Given the description of an element on the screen output the (x, y) to click on. 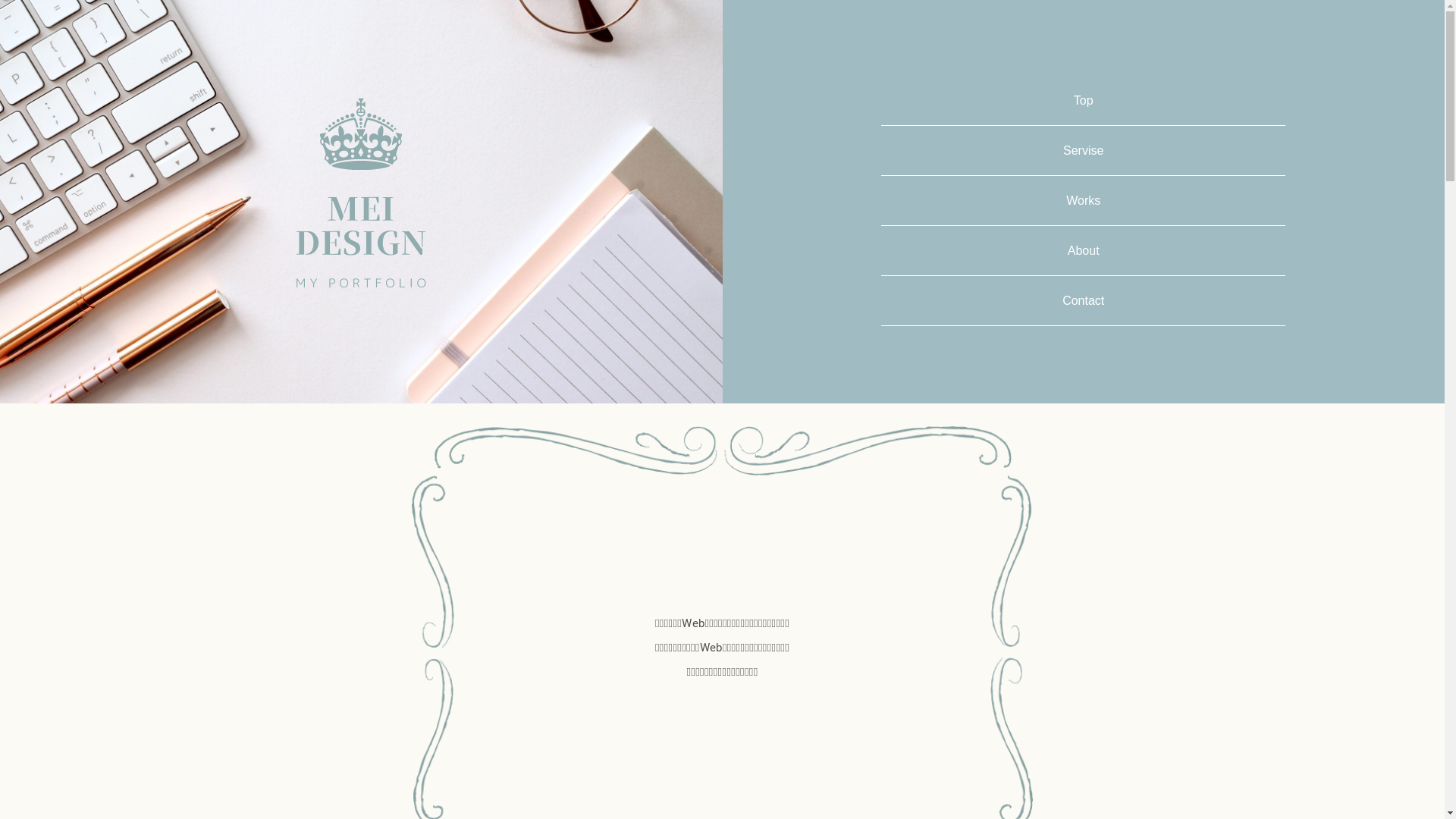
Top Element type: text (1083, 100)
Works Element type: text (1083, 200)
Contact Element type: text (1083, 300)
Servise Element type: text (1083, 150)
About Element type: text (1083, 250)
